Given the description of an element on the screen output the (x, y) to click on. 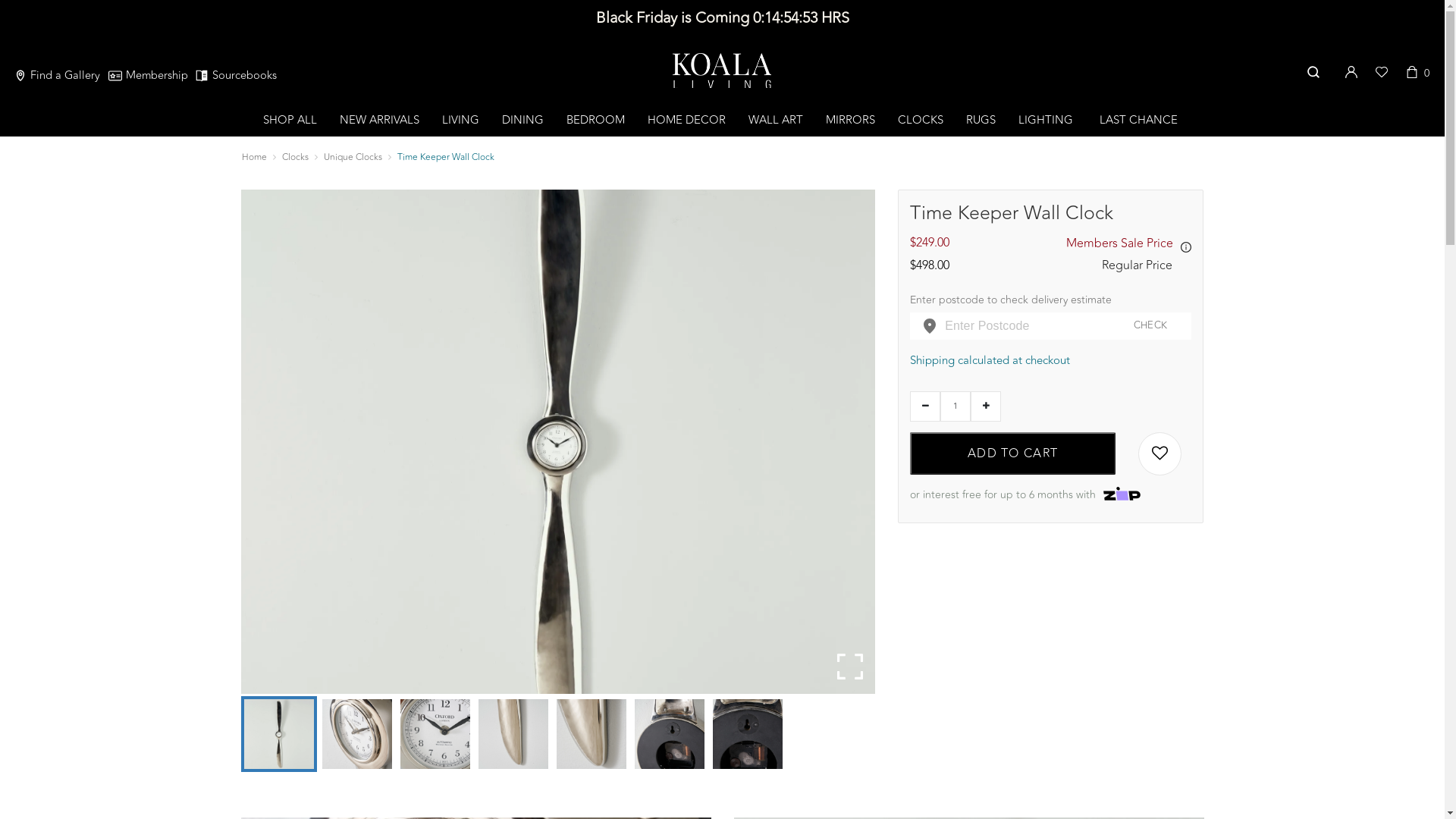
WALL ART Element type: text (775, 119)
Home Element type: text (253, 156)
LIVING Element type: text (460, 119)
SHOP ALL Element type: text (289, 119)
Sourcebooks Element type: text (235, 75)
CLOCKS Element type: text (920, 119)
MIRRORS Element type: text (850, 119)
1 Element type: text (955, 406)
LAST CHANCE Element type: text (1138, 119)
Find a Gallery Element type: text (56, 75)
RUGS Element type: text (980, 119)
0 Element type: text (1421, 81)
NEW ARRIVALS Element type: text (379, 119)
Clocks Element type: text (295, 156)
DINING Element type: text (522, 119)
HOME DECOR Element type: text (686, 119)
BEDROOM Element type: text (595, 119)
ADD TO CART Element type: text (1012, 453)
CHECK Element type: text (1150, 325)
or interest free for up to 6 months with Element type: text (1050, 487)
Membership Element type: text (147, 75)
Unique Clocks Element type: text (352, 156)
LIGHTING Element type: text (1045, 119)
